Given the description of an element on the screen output the (x, y) to click on. 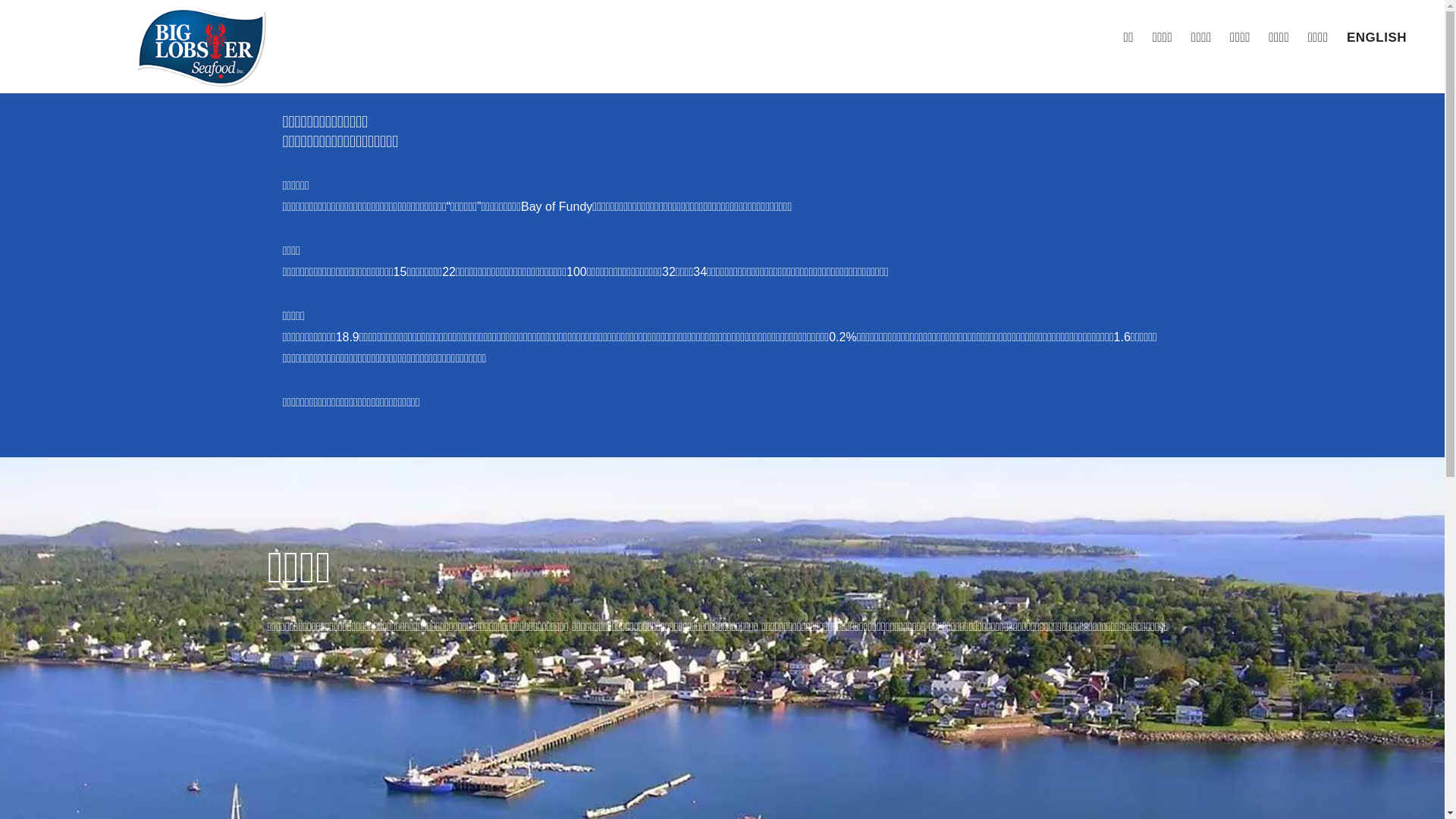
BIGLOBSTER COMPANY Element type: text (200, 46)
ENGLISH Element type: text (1376, 37)
Skip to primary navigation Element type: text (0, 0)
